Given the description of an element on the screen output the (x, y) to click on. 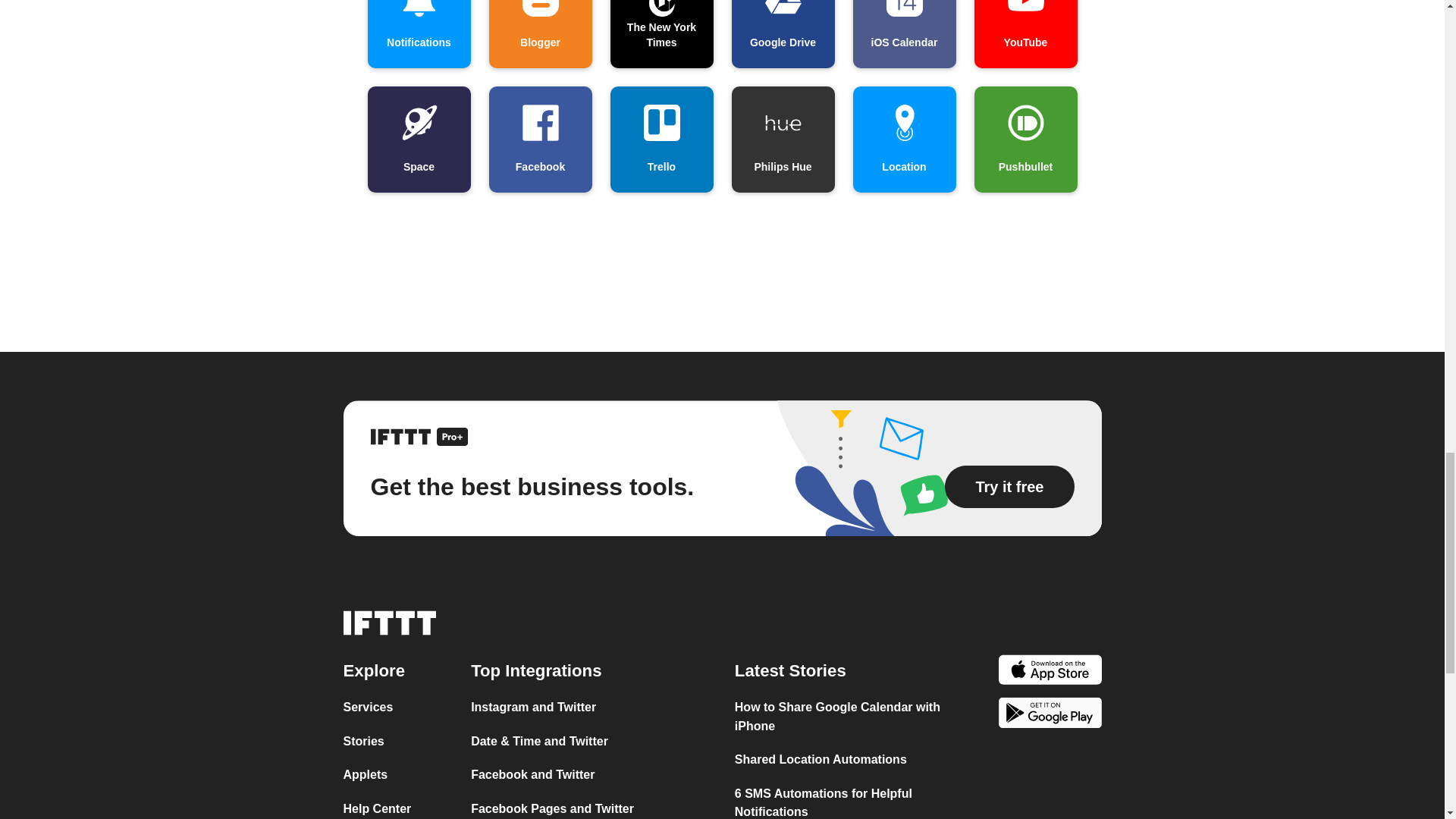
YouTube (1025, 33)
Blogger (539, 33)
Google Drive (782, 33)
Notifications (418, 33)
Space (418, 139)
The New York Times (661, 33)
iOS Calendar (903, 33)
